Given the description of an element on the screen output the (x, y) to click on. 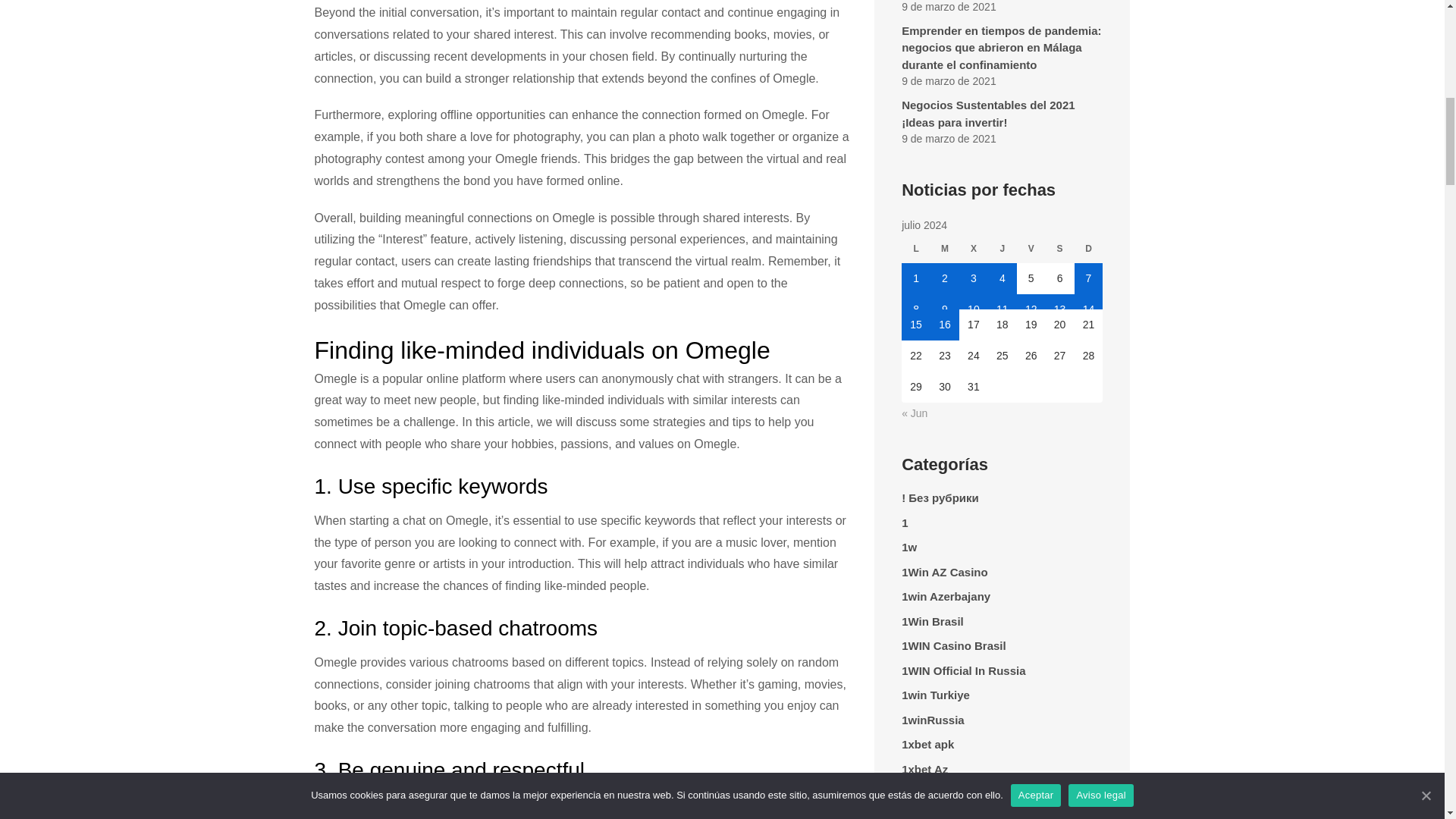
1 (915, 278)
jueves (1002, 251)
3 (973, 278)
2 (944, 278)
8 (915, 301)
15 (915, 324)
viernes (1030, 251)
14 (1088, 301)
domingo (1088, 251)
7 (1088, 278)
4 (1002, 278)
lunes (915, 251)
12 (1030, 301)
martes (944, 251)
11 (1002, 301)
